Given the description of an element on the screen output the (x, y) to click on. 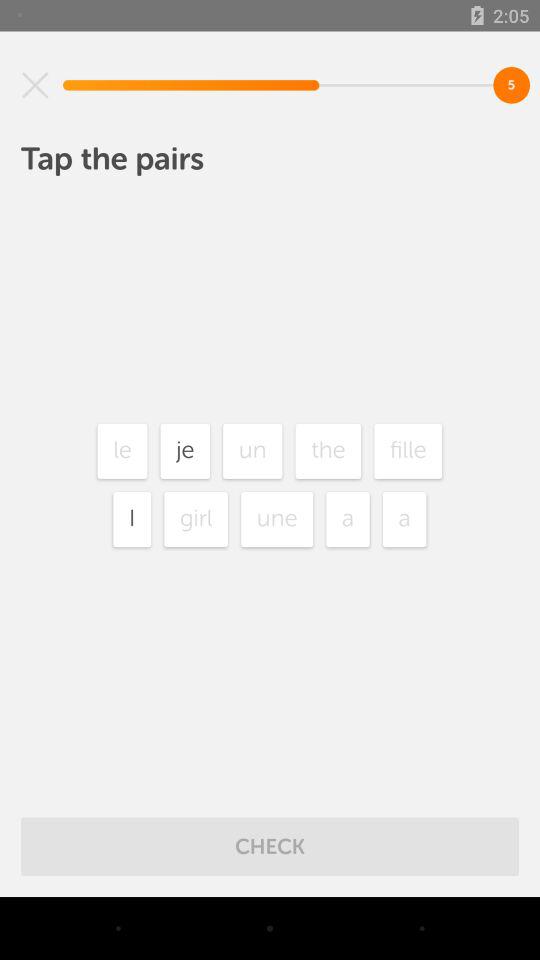
turn off the je item (185, 450)
